Given the description of an element on the screen output the (x, y) to click on. 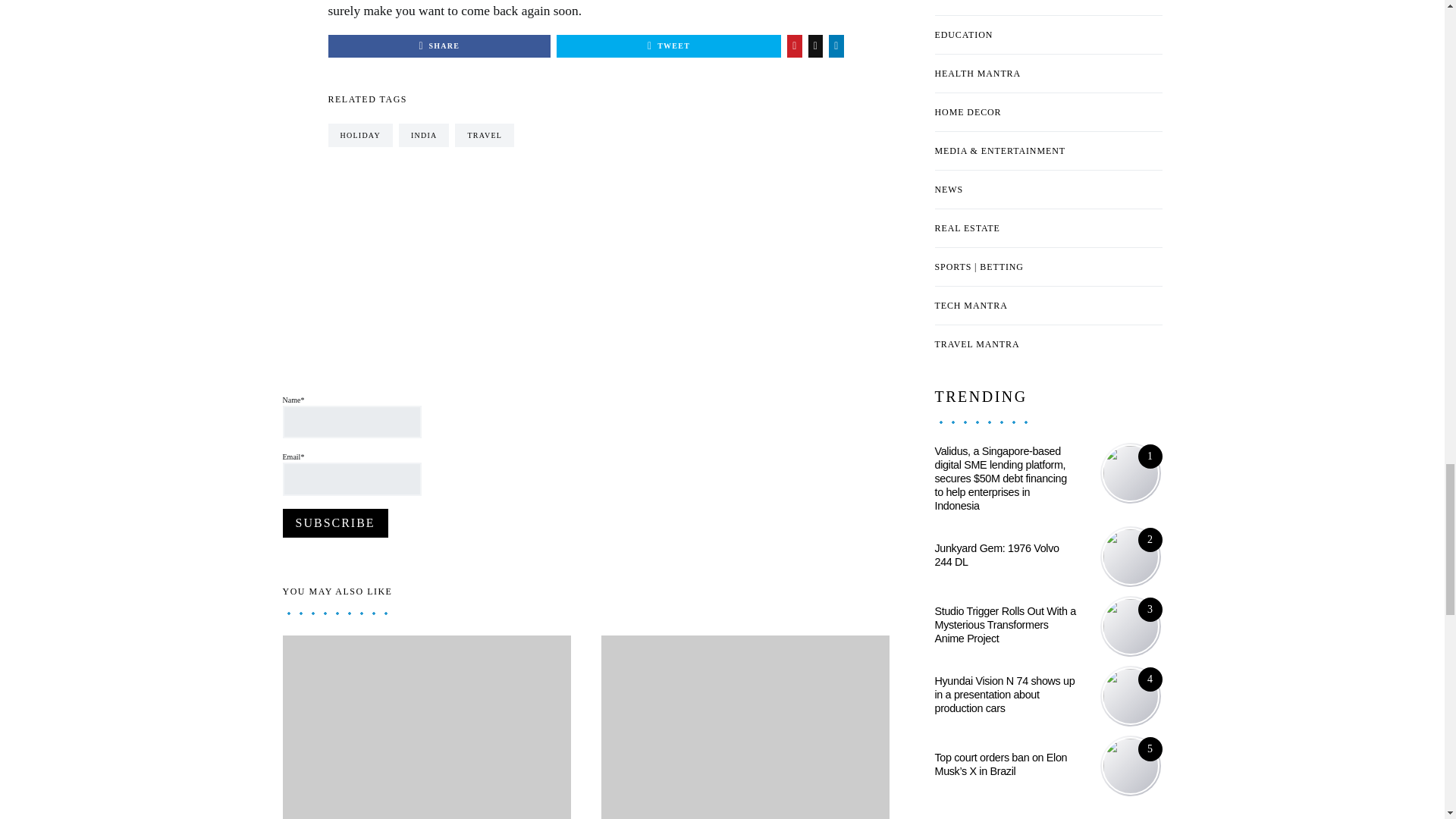
SHARE (438, 46)
Subscribe (334, 522)
TWEET (668, 46)
Advertisement (558, 318)
